Given the description of an element on the screen output the (x, y) to click on. 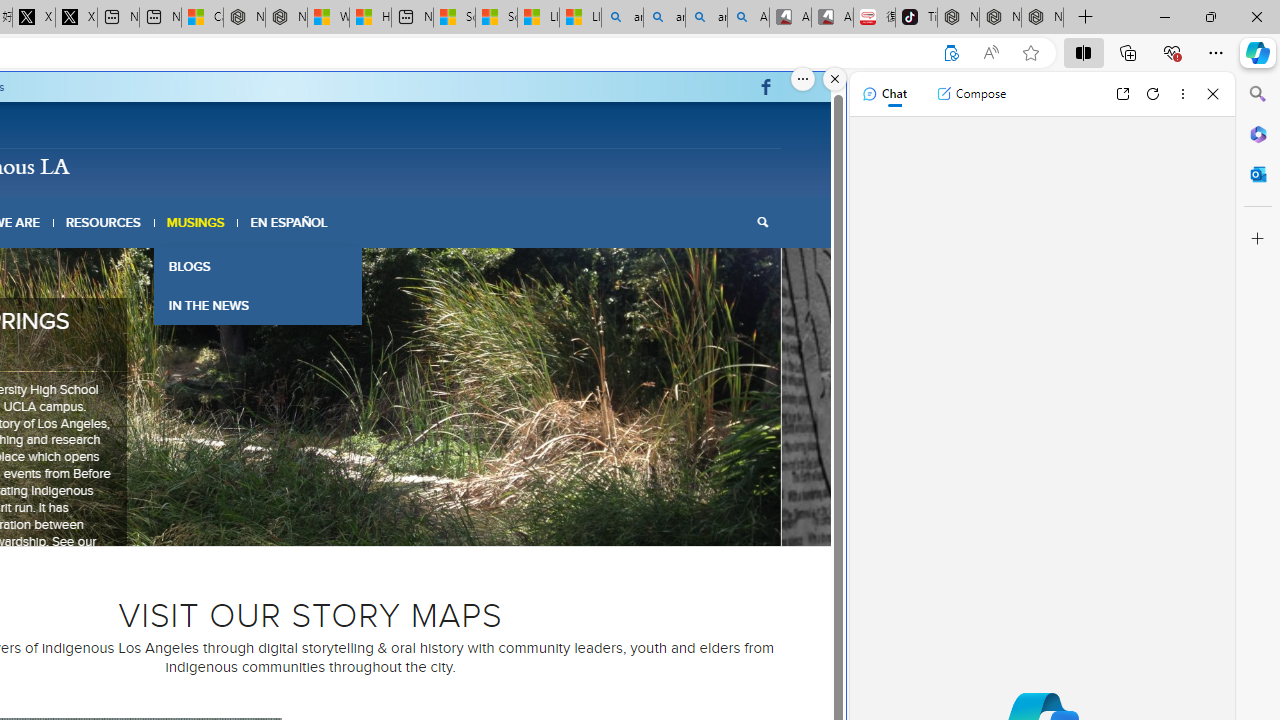
BLOGS (257, 265)
IN THE NEWS (257, 304)
2 (269, 520)
RESOURCES (102, 222)
All Cubot phones (831, 17)
Nordace Siena Pro 15 Backpack (1000, 17)
8 (365, 520)
BLOGS (257, 265)
Close split screen. (835, 79)
